Given the description of an element on the screen output the (x, y) to click on. 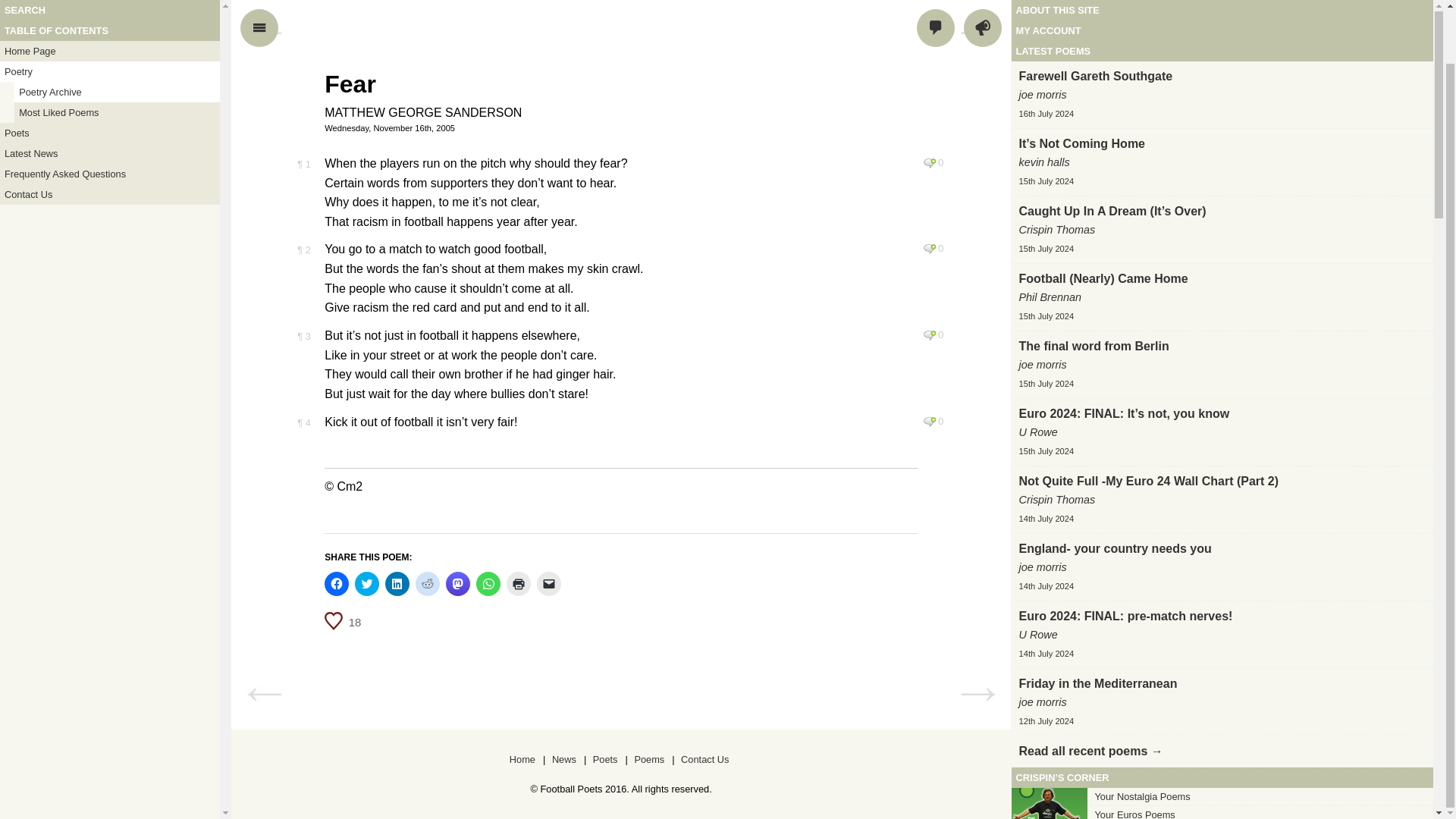
Fear (349, 83)
Click to share on LinkedIn (397, 583)
Permalink for verse 3 (304, 336)
Leave a comment on verse 3 (929, 335)
DERBY DELIGHT (264, 33)
Click to share on Facebook (336, 583)
WC 2006 : JASON AND THE ERGO NORTHS (977, 33)
Contact Us (109, 136)
Permalink for verse 2 (304, 249)
WC 2006 : JASON AND THE ERGO NORTHS (977, 694)
Permalink for verse 4 (304, 422)
Frequently Asked Questions (109, 116)
DERBY DELIGHT (264, 694)
Poets (109, 75)
Leave a comment on verse 2 (929, 248)
